Given the description of an element on the screen output the (x, y) to click on. 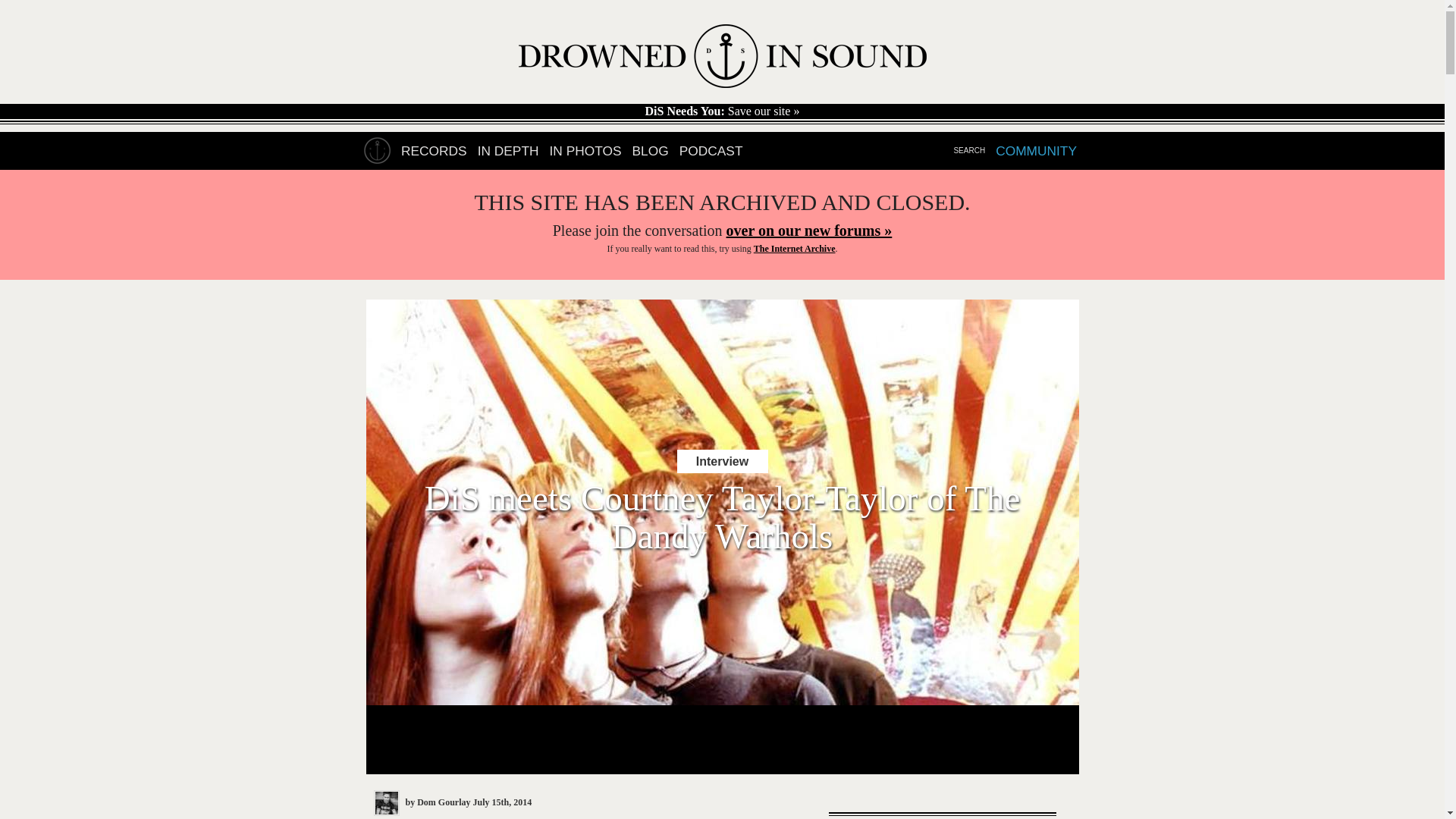
IN DEPTH (507, 150)
The Internet Archive (794, 248)
PODCAST (710, 150)
BLOG (649, 150)
IN PHOTOS (585, 150)
COMMUNITY (1036, 150)
RECORDS (434, 150)
by Dom Gourlay (421, 801)
